Given the description of an element on the screen output the (x, y) to click on. 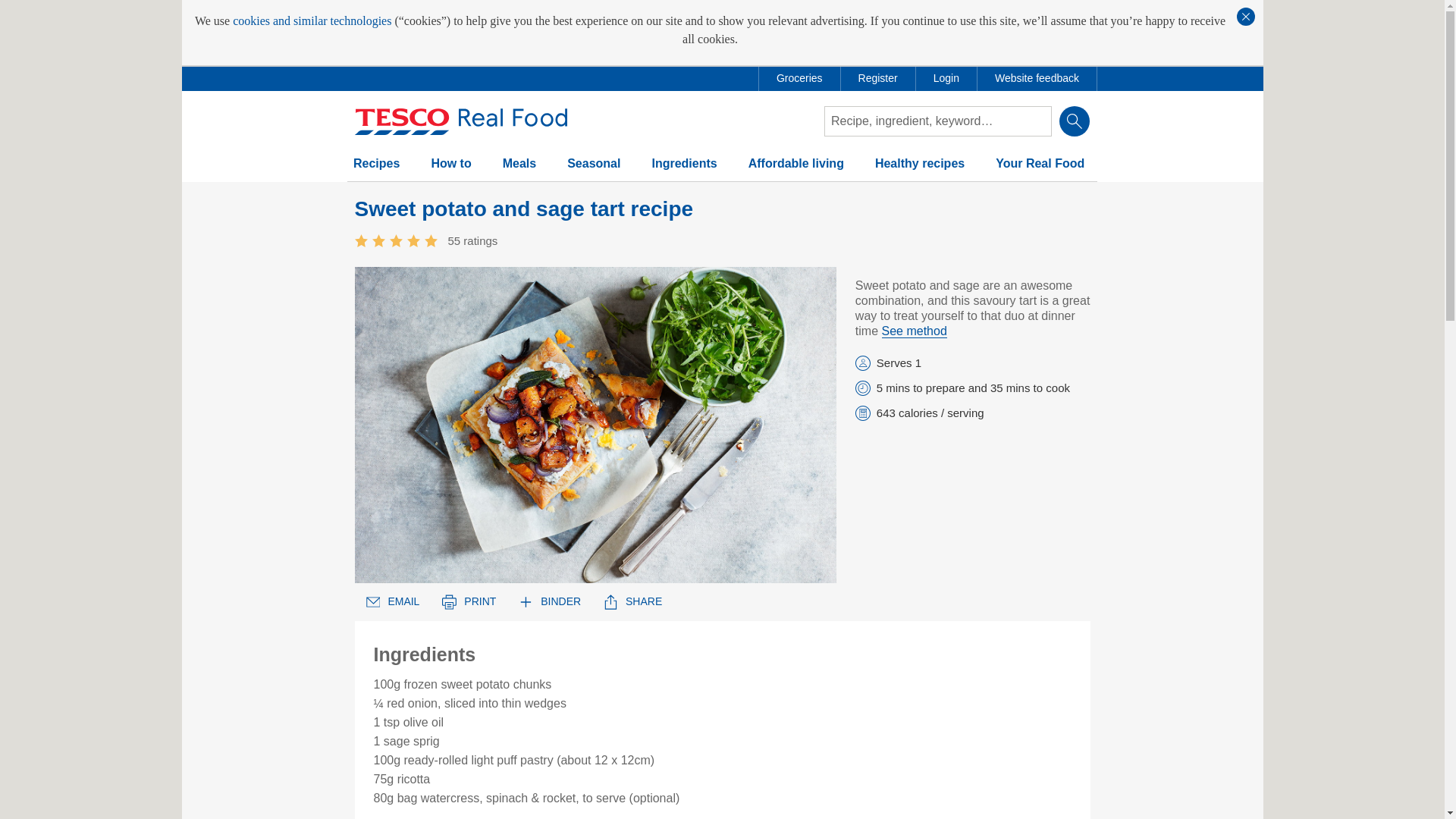
Search (1074, 121)
Groceries (799, 78)
Website feedback (1036, 78)
Close cookie policy banner (1245, 16)
Register (878, 78)
Search (1074, 121)
Recipes (376, 169)
cookies and similar technologies (311, 20)
Login (945, 78)
